Given the description of an element on the screen output the (x, y) to click on. 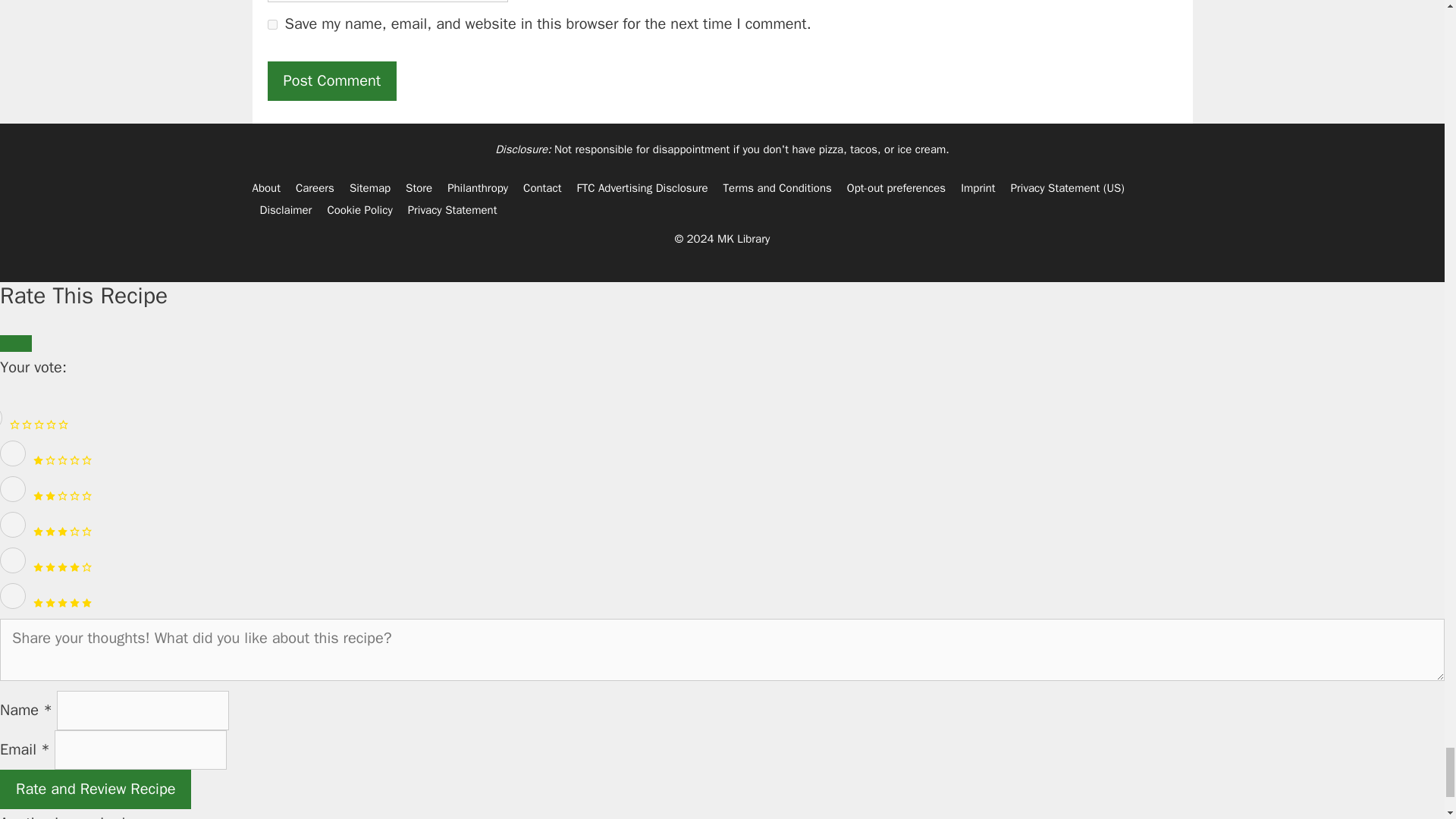
yes (271, 24)
5 (13, 596)
1 (13, 453)
2 (13, 488)
4 (13, 560)
3 (13, 524)
Post Comment (331, 80)
